Given the description of an element on the screen output the (x, y) to click on. 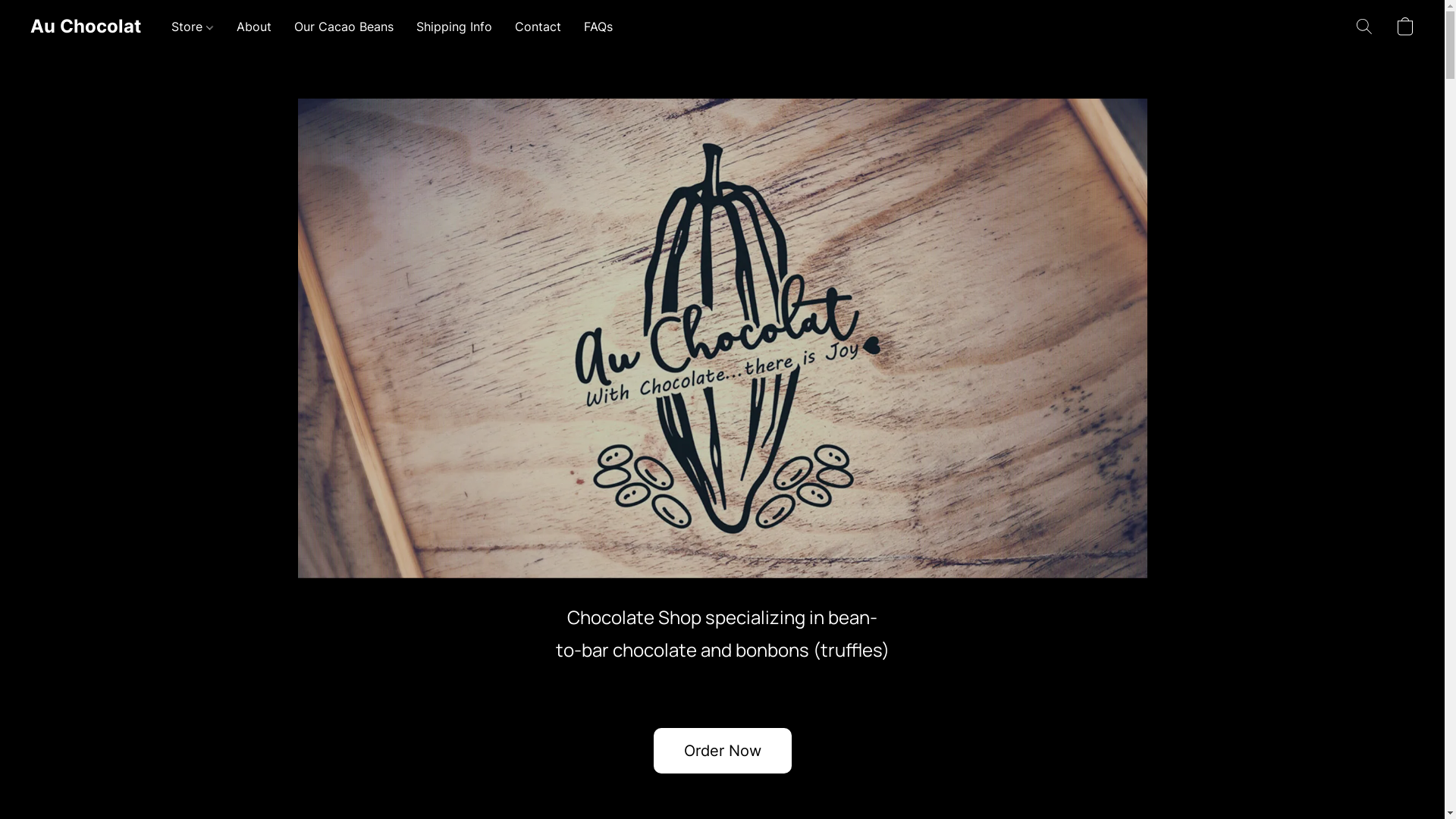
Our Cacao Beans Element type: text (343, 26)
Order Now Element type: text (722, 750)
About Element type: text (253, 26)
Search the website Element type: hover (1363, 26)
Go to your shopping cart Element type: hover (1404, 26)
Shipping Info Element type: text (453, 26)
Contact Element type: text (537, 26)
Au Chocolat Element type: text (85, 26)
Store Element type: text (198, 26)
FAQs Element type: text (592, 26)
